Given the description of an element on the screen output the (x, y) to click on. 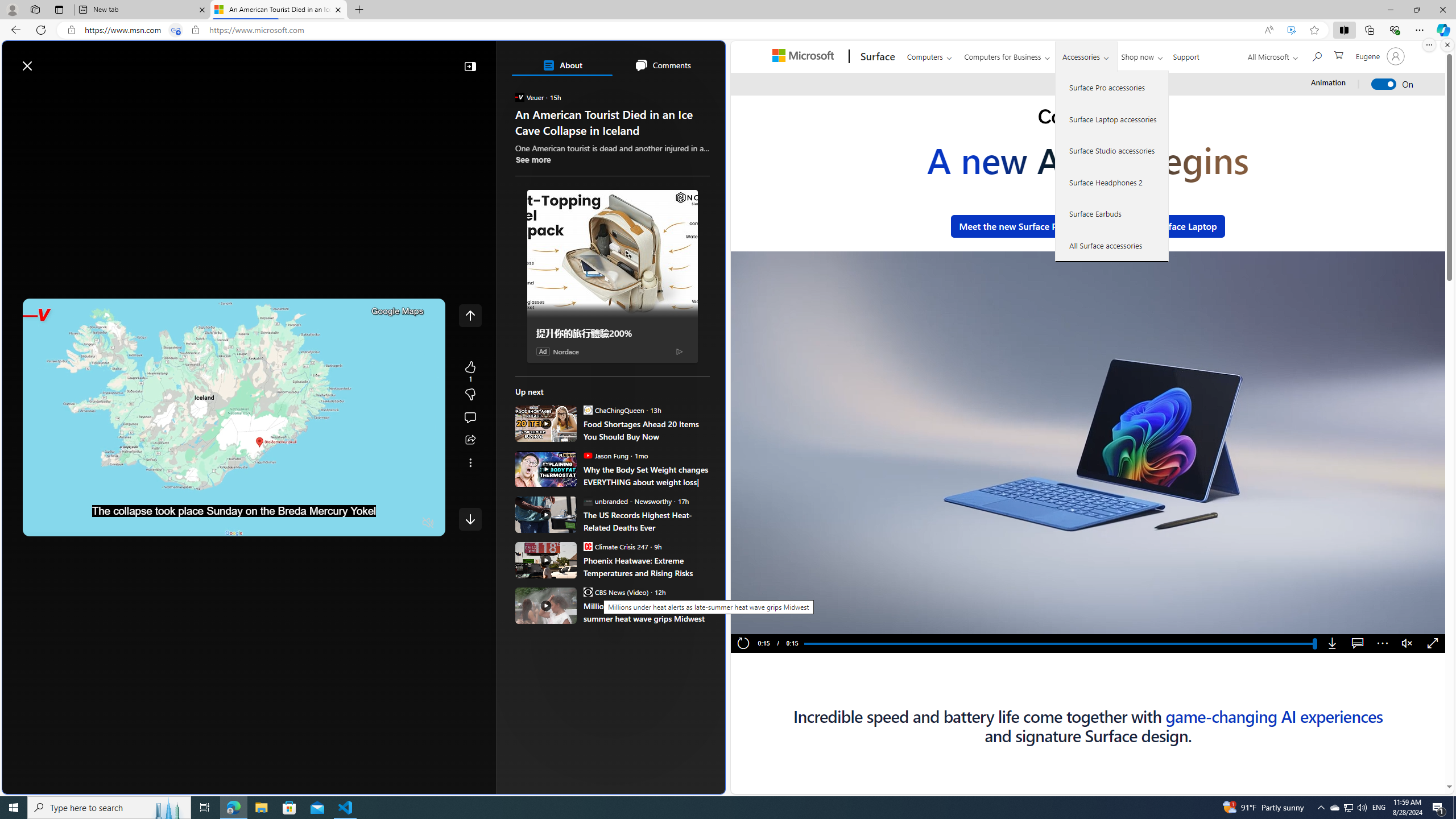
Progress Bar (1058, 643)
Seek Back (62, 523)
Pause (762, 621)
Jason Fung Jason Fung (605, 455)
